Given the description of an element on the screen output the (x, y) to click on. 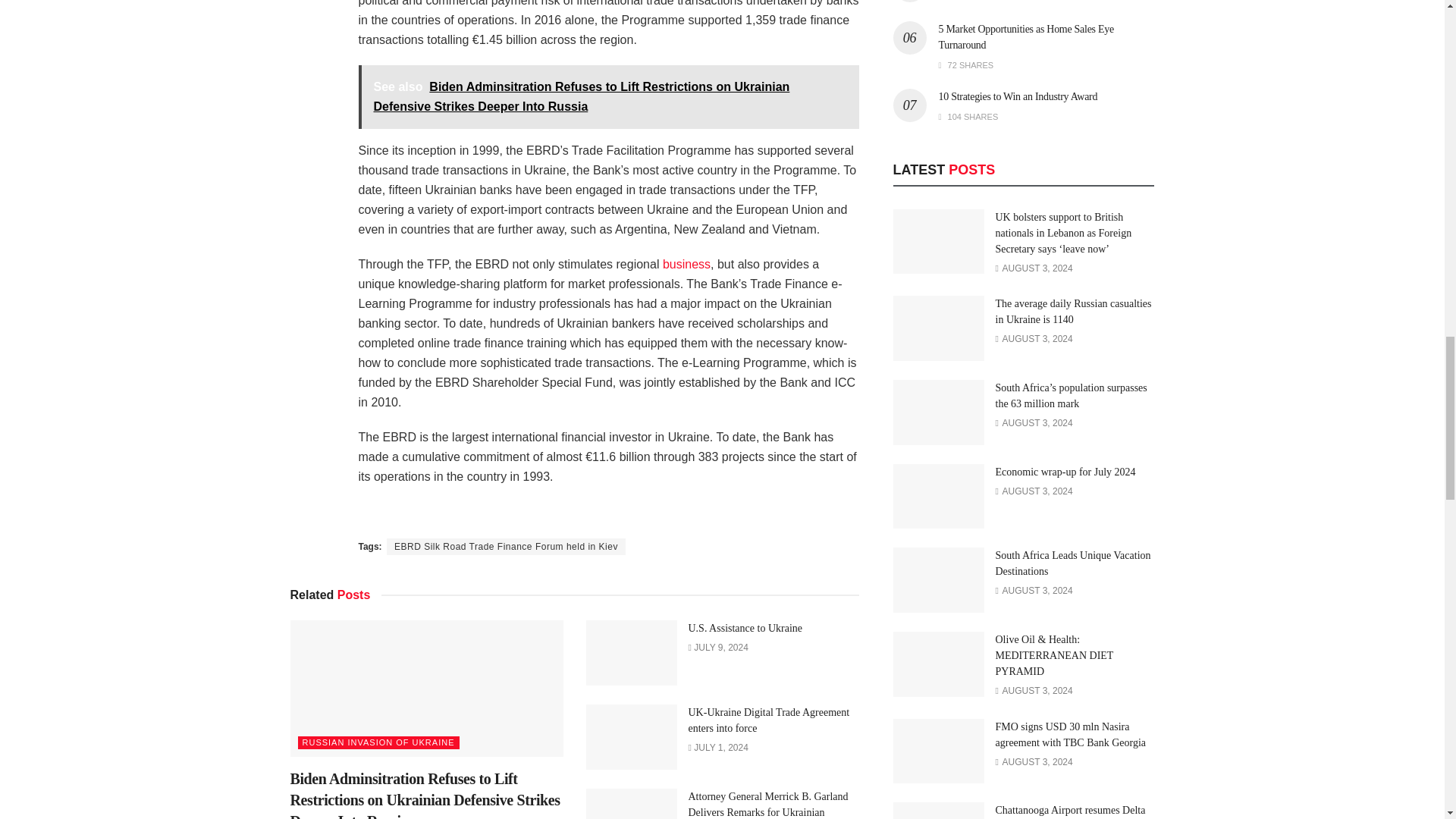
Business (686, 264)
